Given the description of an element on the screen output the (x, y) to click on. 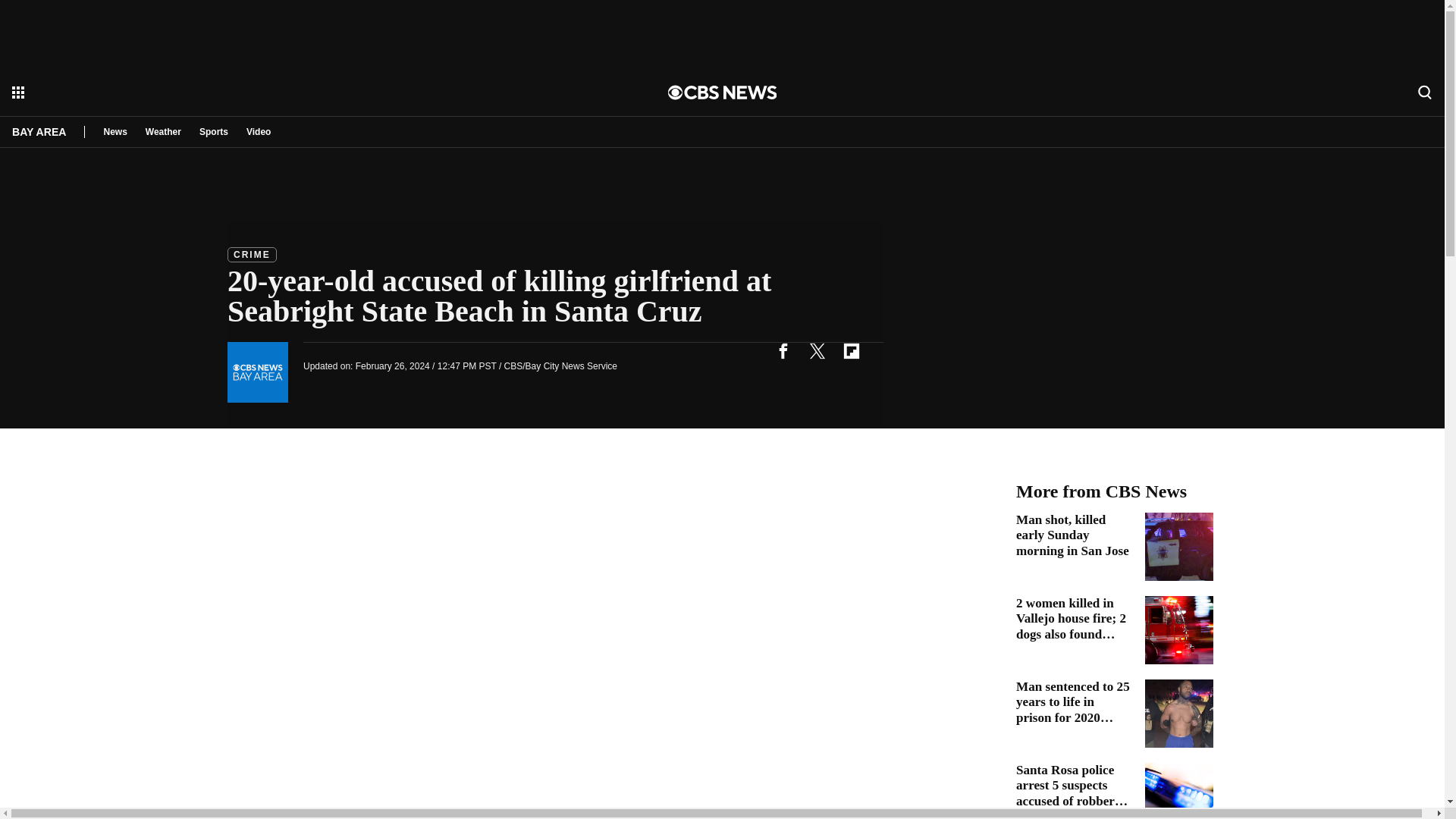
twitter (816, 350)
facebook (782, 350)
flipboard (850, 350)
